Given the description of an element on the screen output the (x, y) to click on. 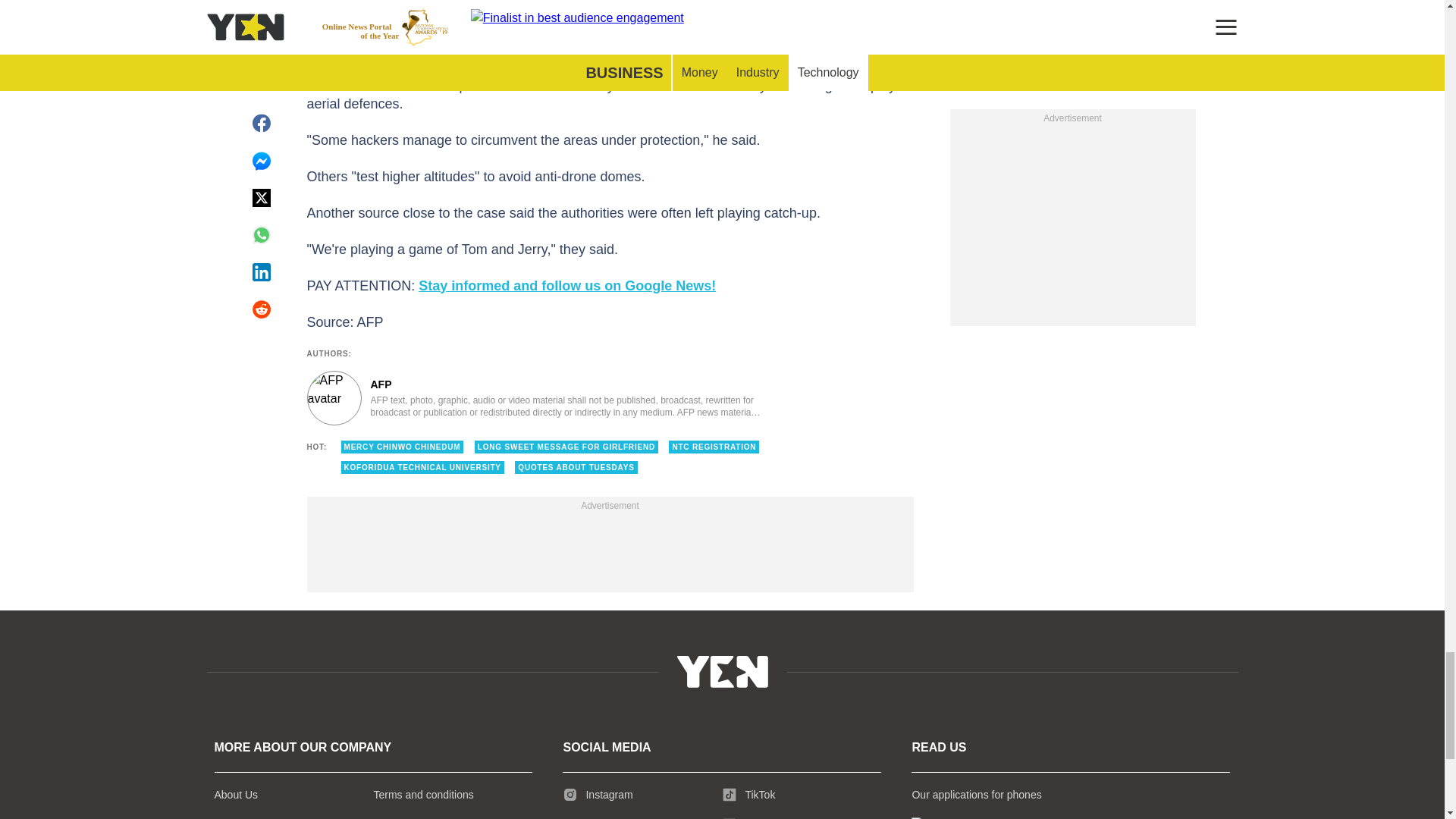
Author page (533, 398)
